Given the description of an element on the screen output the (x, y) to click on. 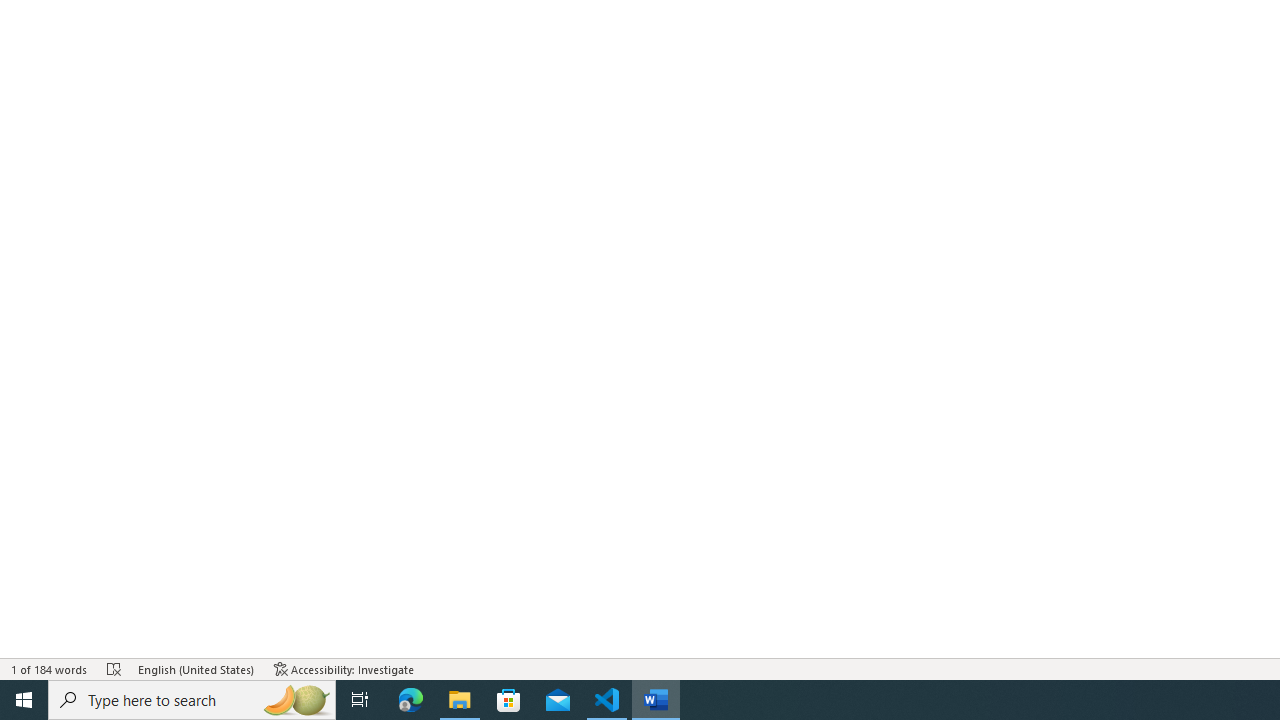
Word Count 1 of 184 words (49, 668)
Spelling and Grammar Check Errors (114, 668)
